Given the description of an element on the screen output the (x, y) to click on. 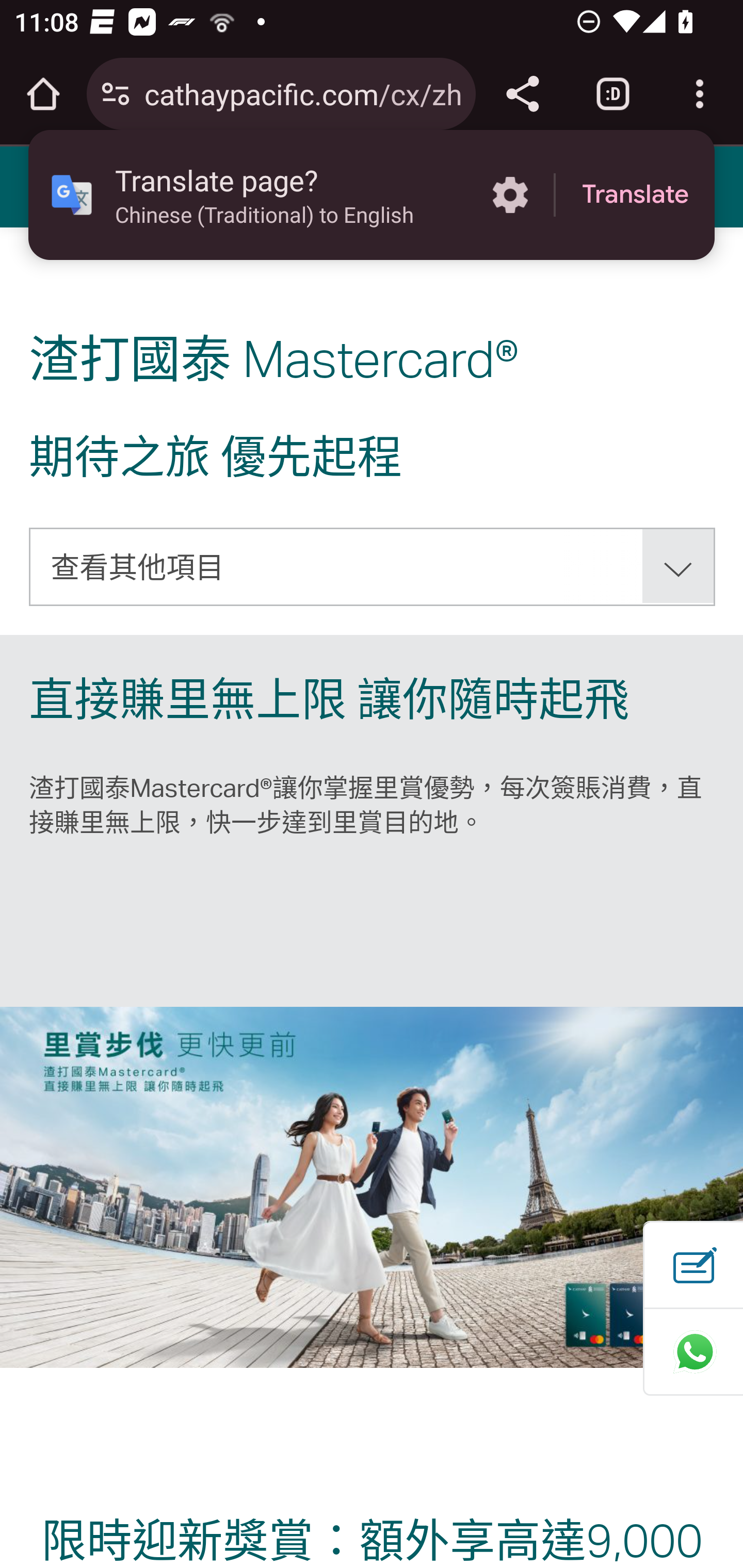
Open the home page (43, 93)
Connection is secure (115, 93)
Share (522, 93)
Switch or close tabs (612, 93)
Customize and control Google Chrome (699, 93)
Translate (634, 195)
功能表 (47, 186)
More options in the Translate page? (509, 195)
查看其他項目 (372, 566)
